Given the description of an element on the screen output the (x, y) to click on. 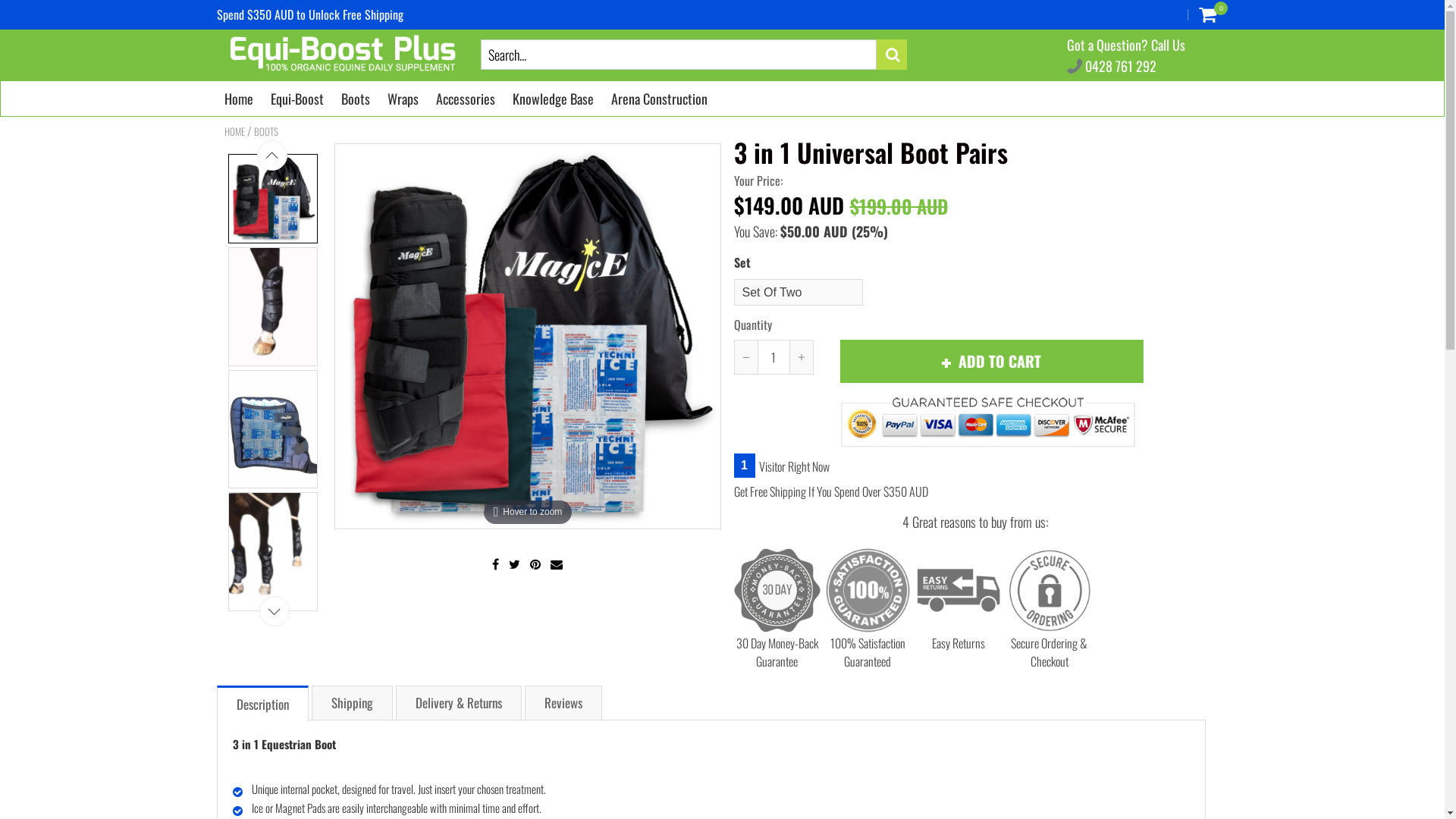
Wraps Element type: text (401, 97)
Hover to zoom Element type: text (528, 337)
Equi-Boost Element type: text (296, 97)
Delivery & Returns Element type: text (458, 702)
ADD TO CART Element type: text (987, 360)
Reviews Element type: text (563, 702)
0428 761 292 Element type: text (1110, 65)
0 Element type: text (1207, 14)
HOME Element type: text (234, 130)
BOOTS Element type: text (265, 130)
Arena Construction Element type: text (659, 97)
Home Element type: text (238, 97)
Boots Element type: text (355, 97)
Knowledge Base Element type: text (552, 97)
Accessories Element type: text (464, 97)
Increase item quantity by one Element type: text (800, 356)
Description Element type: text (262, 703)
Reduce item quantity by one Element type: text (745, 356)
Shipping Element type: text (351, 702)
Spend $350 AUD to Unlock Free Shipping Element type: text (309, 14)
